Given the description of an element on the screen output the (x, y) to click on. 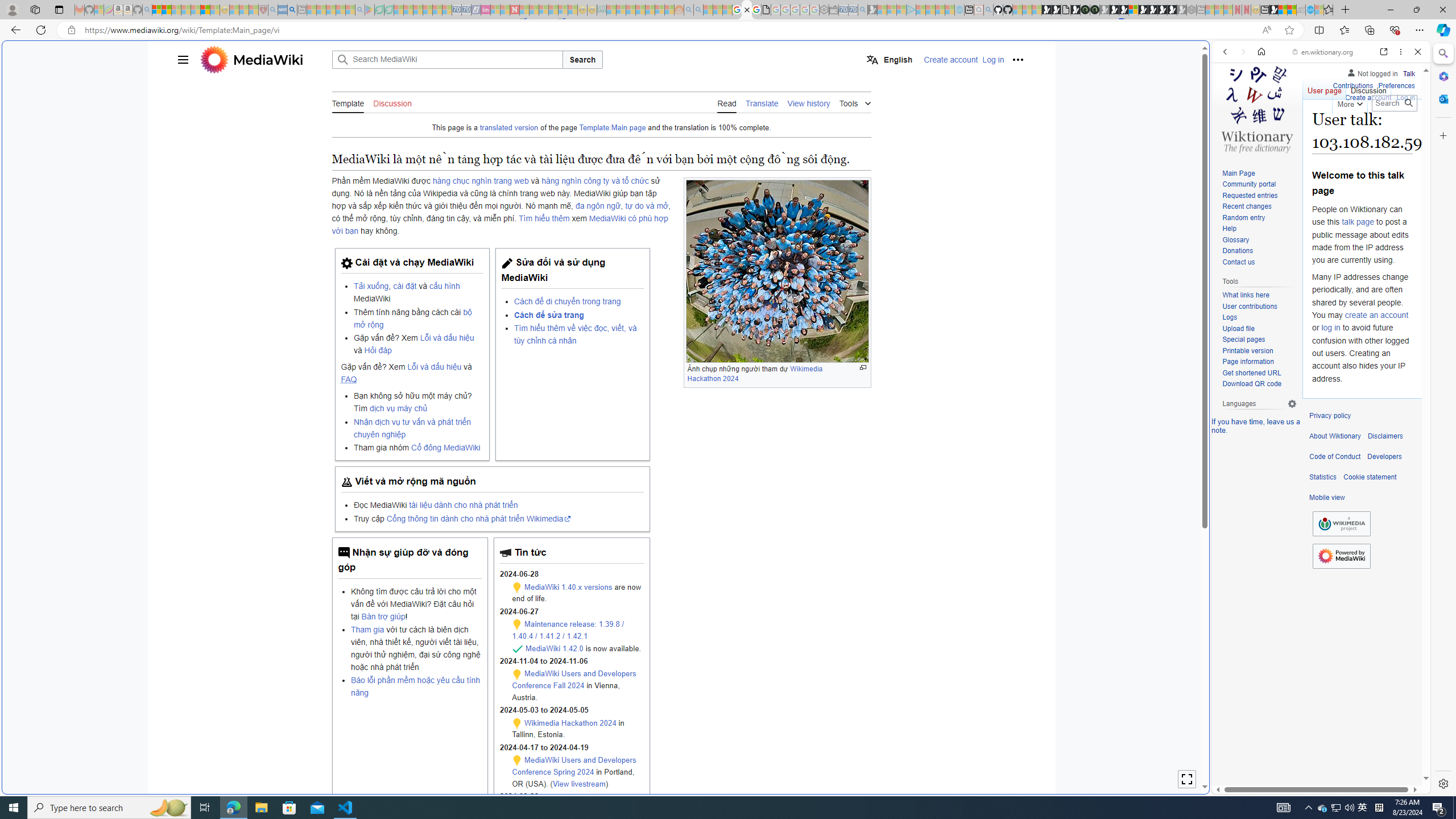
Requested entries (1259, 196)
Get shortened URL (1259, 373)
Future Focus Report 2024 (1094, 9)
Release (518, 648)
Cookie statement (1369, 477)
